Given the description of an element on the screen output the (x, y) to click on. 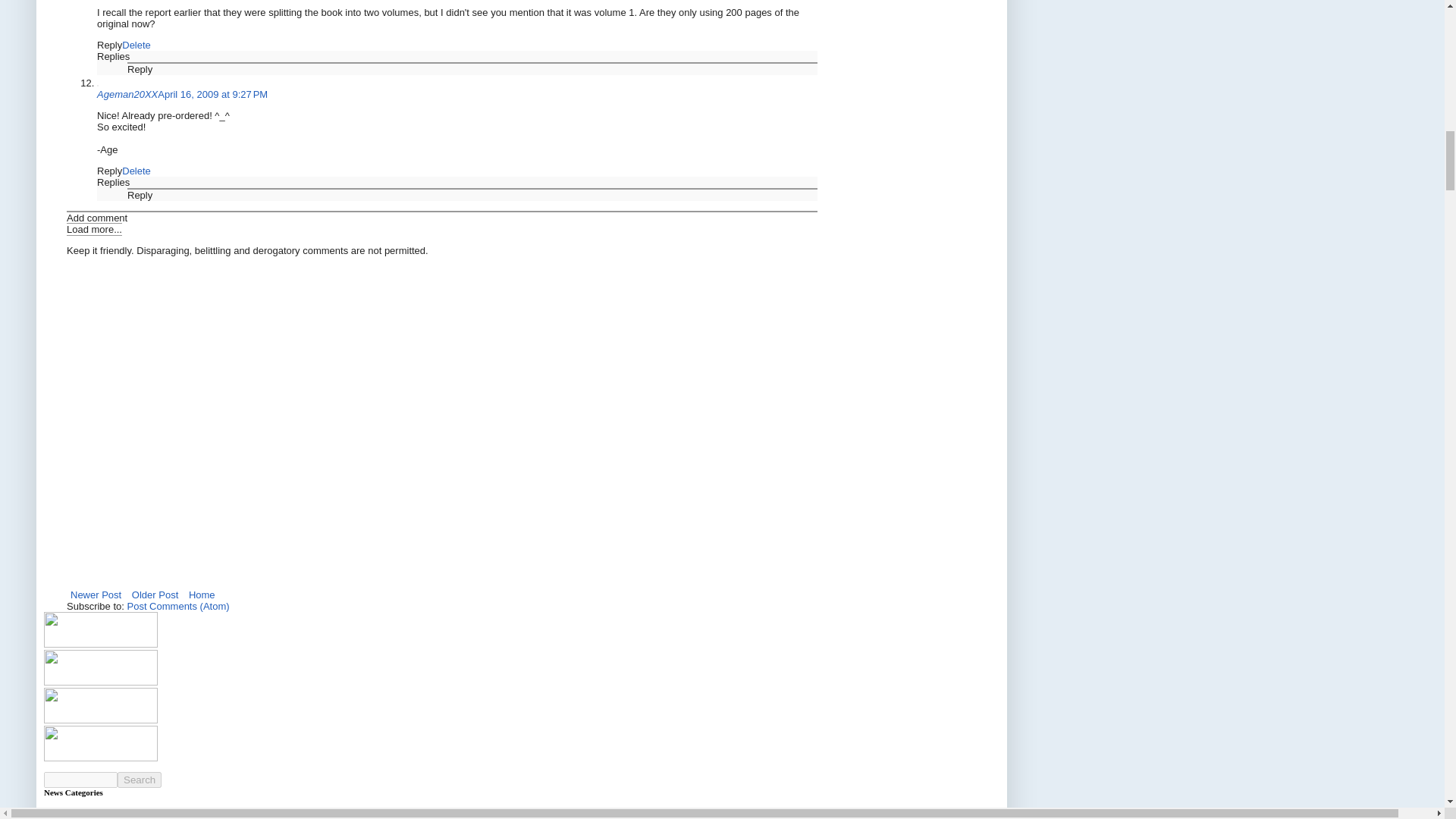
search (139, 779)
Search (139, 779)
Newer Post (95, 594)
search (80, 779)
Older Post (155, 594)
Search (139, 779)
